Given the description of an element on the screen output the (x, y) to click on. 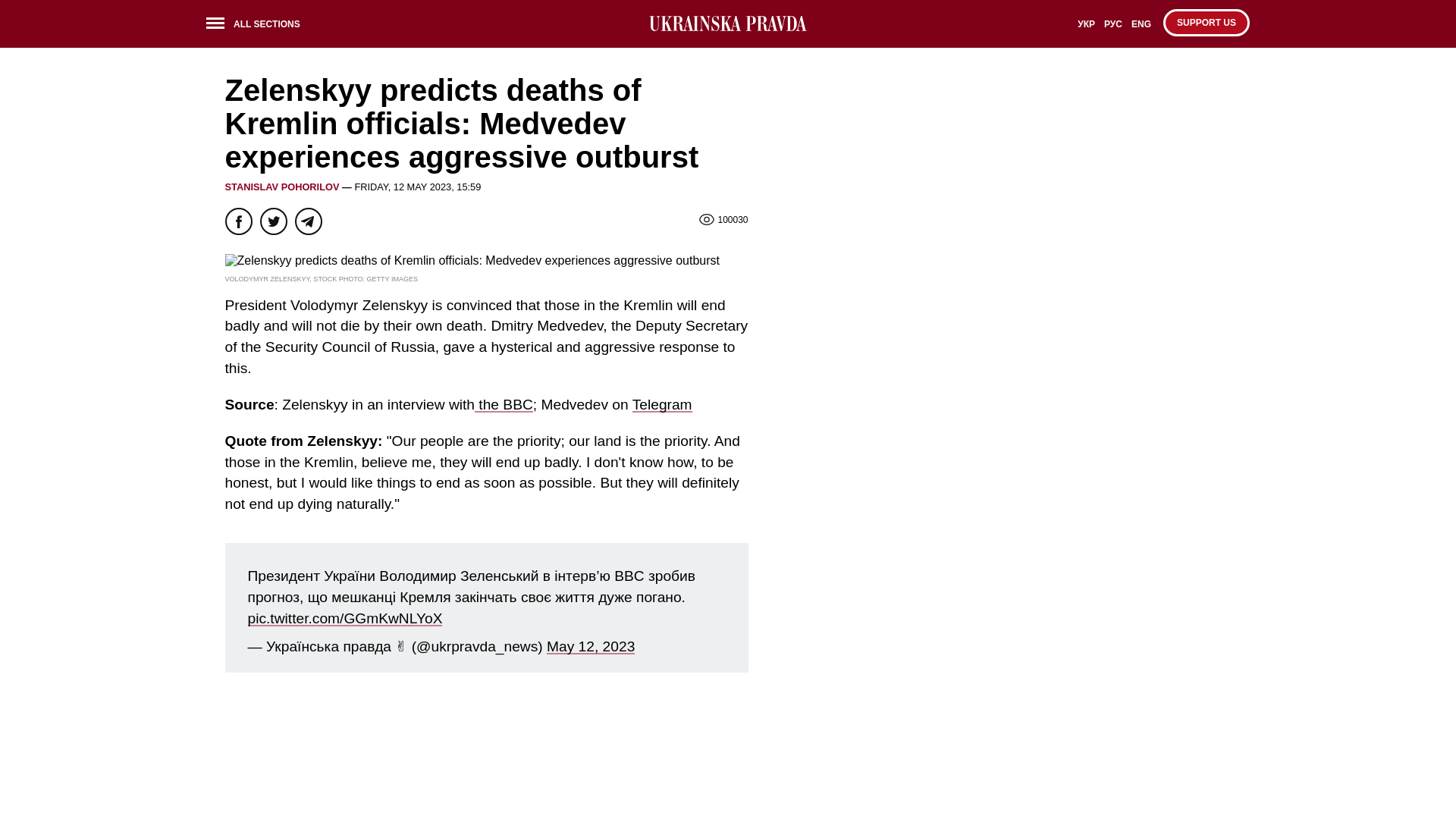
ALL SECTIONS (257, 26)
Ukrainska pravda (727, 24)
Ukrainska pravda (727, 23)
May 12, 2023 (590, 646)
the BBC (503, 404)
STANISLAV POHORILOV (281, 186)
ENG (1141, 28)
Telegram (662, 404)
SUPPORT US (1206, 22)
